Given the description of an element on the screen output the (x, y) to click on. 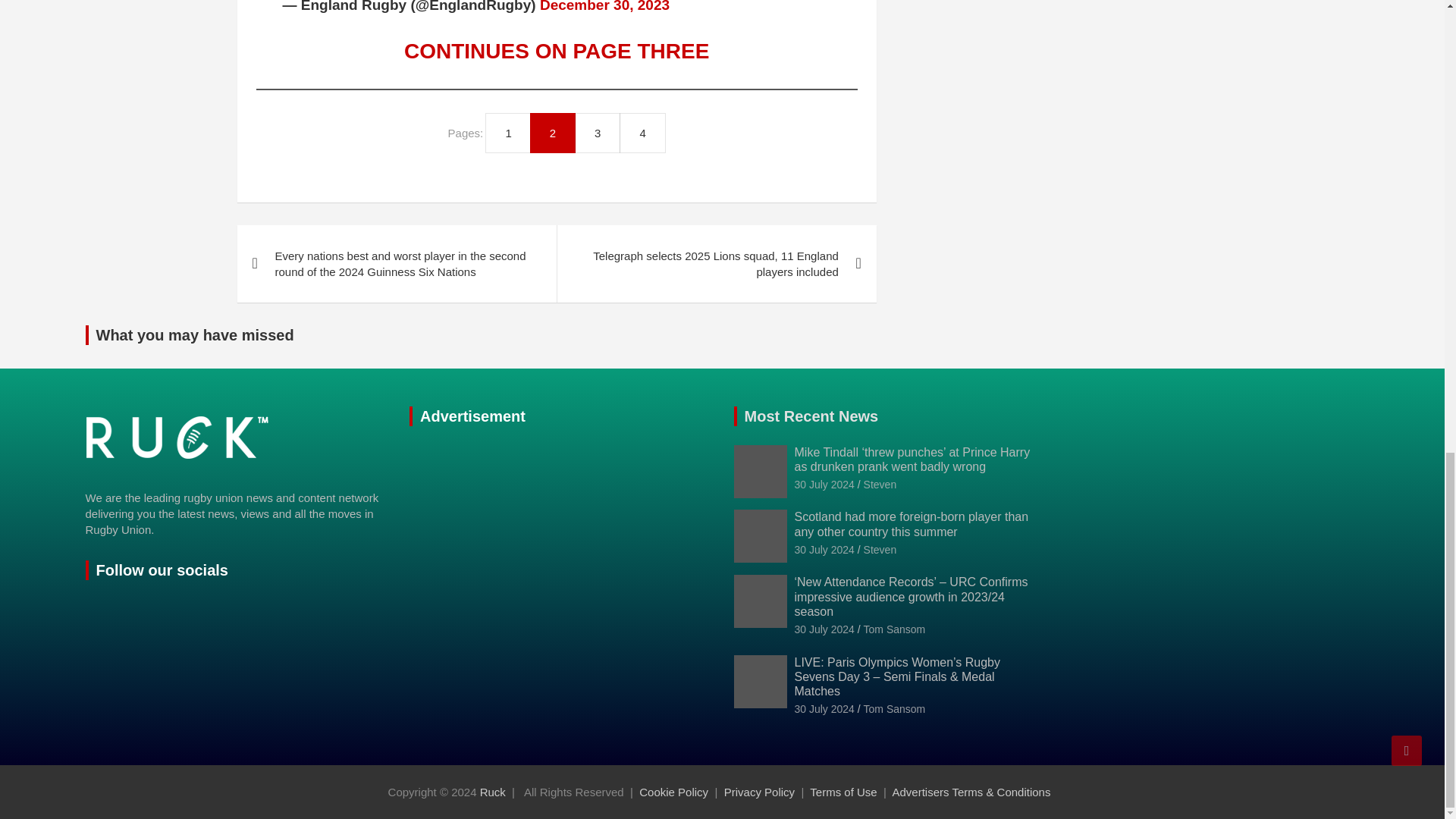
CONTINUES ON PAGE THREE (556, 51)
December 30, 2023 (604, 6)
Ruck (492, 791)
